Given the description of an element on the screen output the (x, y) to click on. 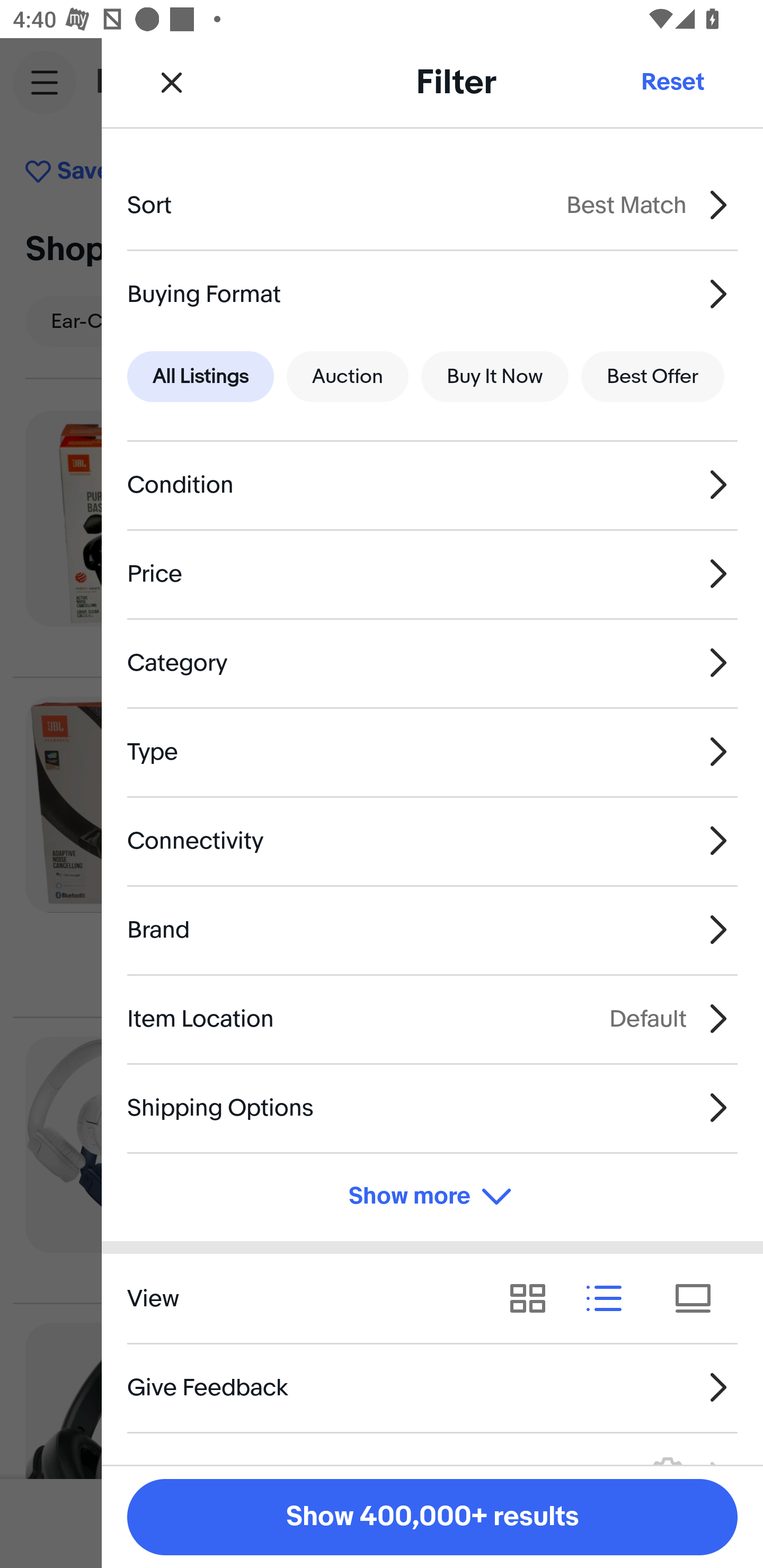
Close Filter (171, 81)
Reset (672, 81)
Buying Format (432, 293)
All Listings (200, 376)
Auction (347, 376)
Buy It Now (494, 376)
Best Offer (652, 376)
Condition (432, 484)
Price (432, 573)
Category (432, 662)
Type (432, 751)
Connectivity (432, 840)
Brand (432, 929)
Item Location Default (432, 1018)
Shipping Options (432, 1107)
Show more (432, 1196)
View results as grid (533, 1297)
View results as list (610, 1297)
View results as tiles (699, 1297)
